Given the description of an element on the screen output the (x, y) to click on. 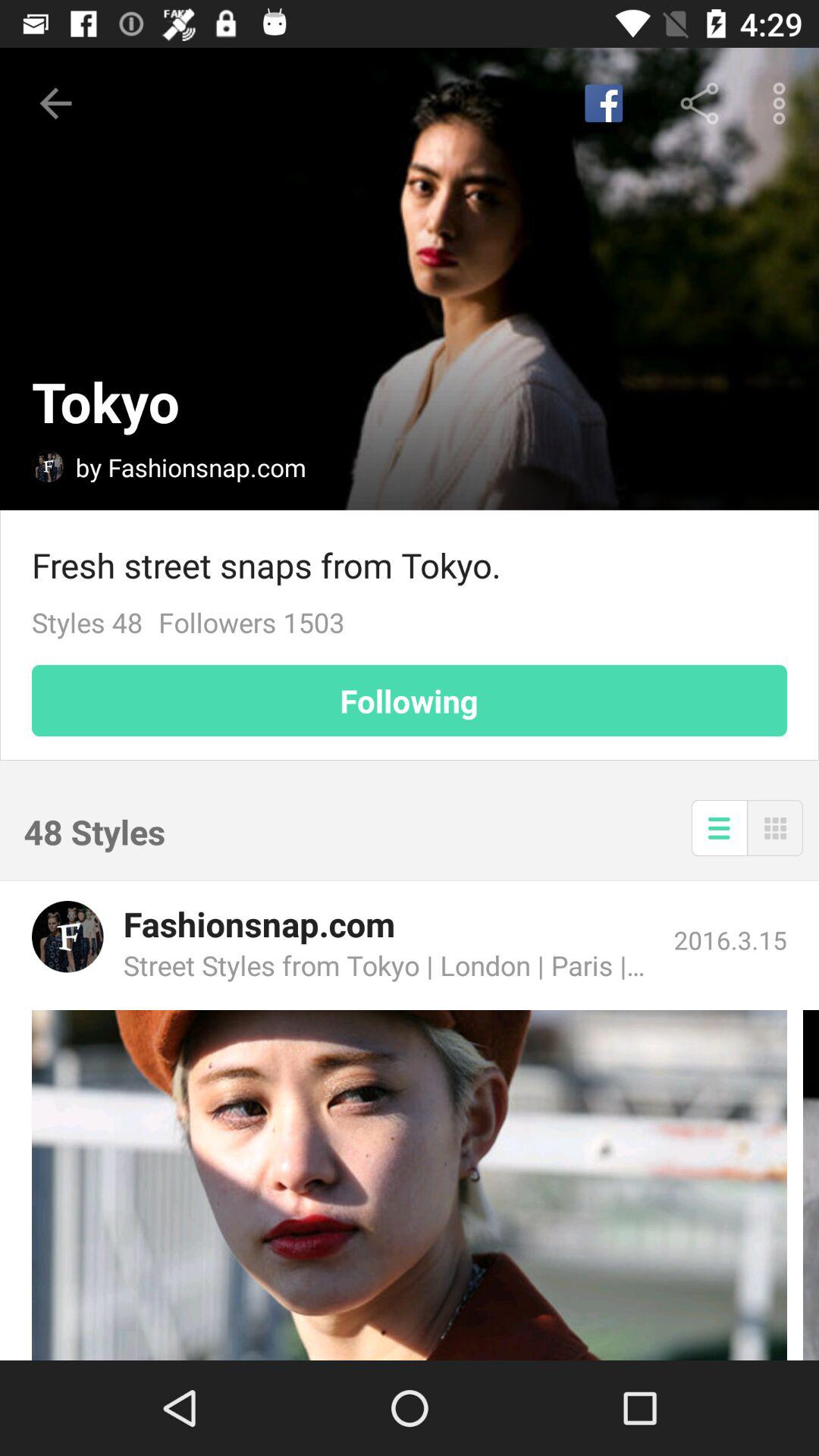
select related style (409, 1185)
